Given the description of an element on the screen output the (x, y) to click on. 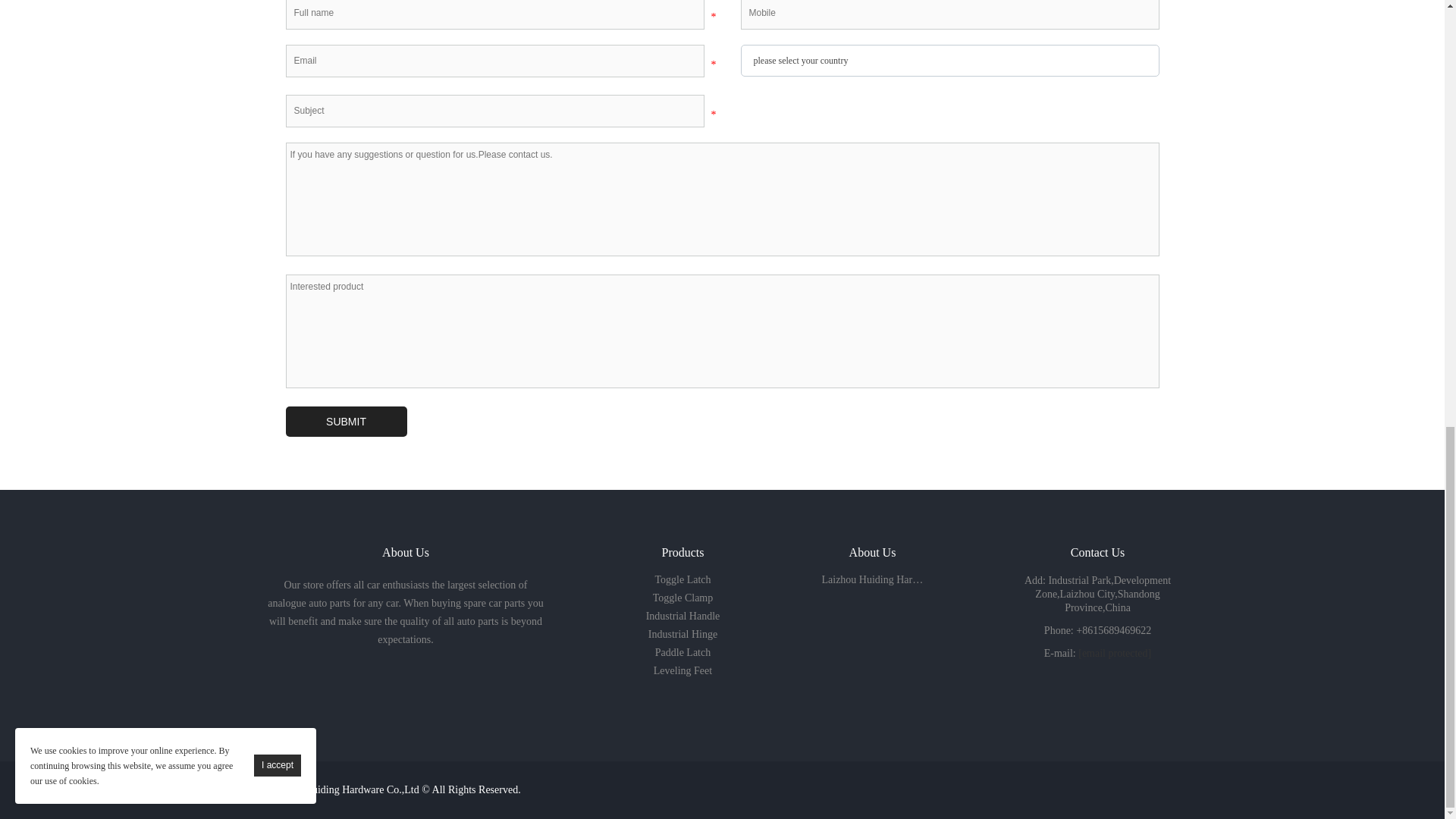
Submit (345, 421)
